Given the description of an element on the screen output the (x, y) to click on. 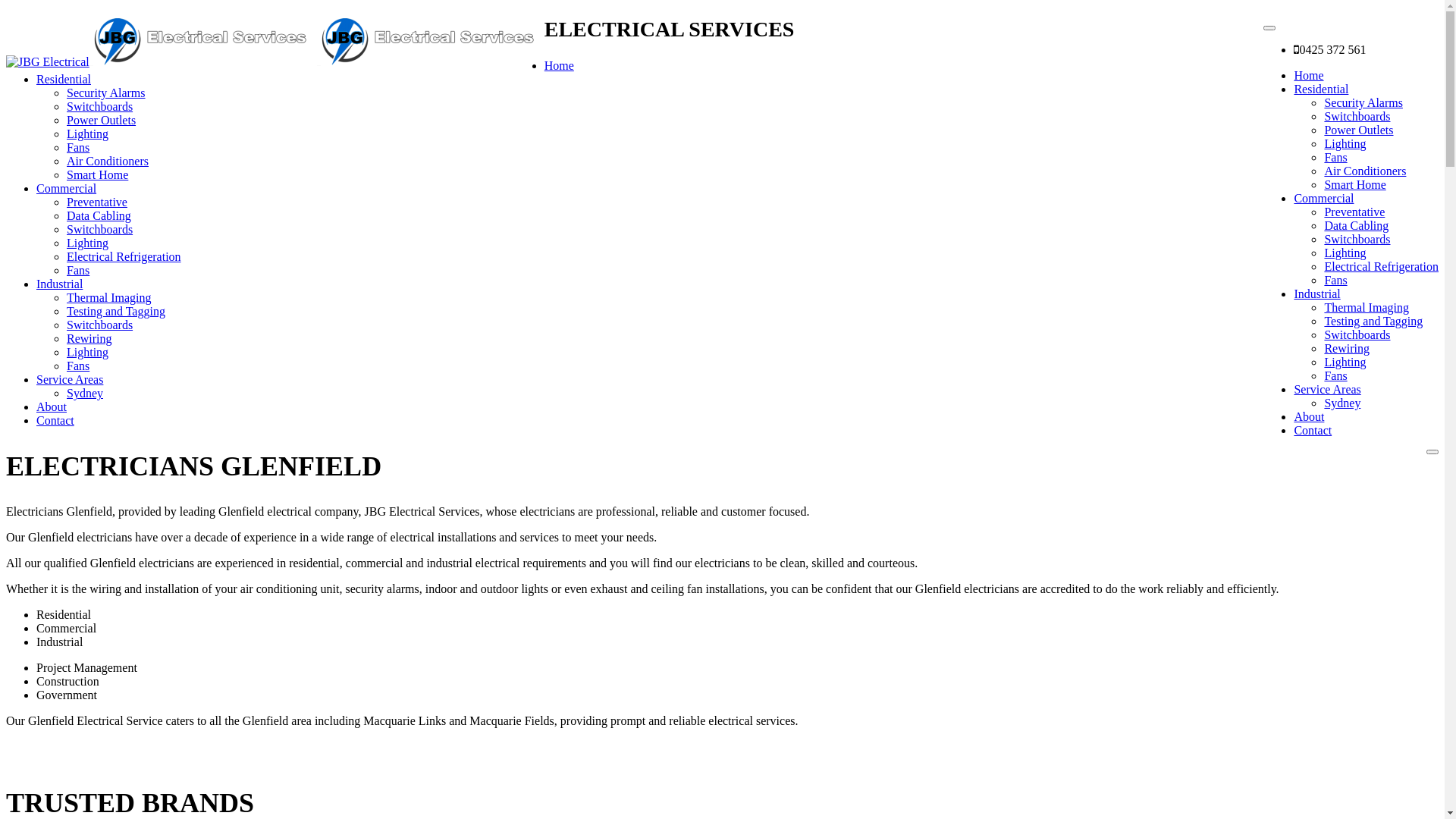
Power Outlets Element type: text (1358, 129)
Fans Element type: text (1335, 375)
Lighting Element type: text (87, 351)
Switchboards Element type: text (1357, 115)
Air Conditioners Element type: text (107, 160)
Security Alarms Element type: text (105, 92)
Power Outlets Element type: text (100, 119)
Smart Home Element type: text (97, 174)
Contact Element type: text (1312, 429)
Lighting Element type: text (87, 133)
Preventative Element type: text (1354, 211)
Commercial Element type: text (66, 188)
About Element type: text (51, 406)
Commercial Element type: text (1323, 197)
Security Alarms Element type: text (1363, 102)
Air Conditioners Element type: text (1364, 170)
Switchboards Element type: text (1357, 334)
Sydney Element type: text (1342, 402)
Testing and Tagging Element type: text (115, 310)
Service Areas Element type: text (69, 379)
Industrial Element type: text (1316, 293)
Fans Element type: text (77, 269)
Switchboards Element type: text (99, 228)
Thermal Imaging Element type: text (1366, 307)
Data Cabling Element type: text (1356, 225)
Fans Element type: text (77, 365)
Electrical Refrigeration Element type: text (123, 256)
Home Element type: text (1308, 75)
Lighting Element type: text (1344, 143)
Smart Home Element type: text (1354, 184)
Electrical Refrigeration Element type: text (1381, 266)
Switchboards Element type: text (99, 324)
About Element type: text (1308, 416)
Lighting Element type: text (1344, 361)
Industrial Element type: text (59, 283)
Fans Element type: text (77, 147)
Fans Element type: text (1335, 156)
Rewiring Element type: text (89, 338)
Data Cabling Element type: text (98, 215)
Home Element type: text (559, 65)
Sydney Element type: text (84, 392)
Lighting Element type: text (1344, 252)
Switchboards Element type: text (1357, 238)
Rewiring Element type: text (1346, 348)
Switchboards Element type: text (99, 106)
Service Areas Element type: text (1326, 388)
Fans Element type: text (1335, 279)
Residential Element type: text (1320, 88)
Contact Element type: text (55, 420)
Testing and Tagging Element type: text (1373, 320)
Residential Element type: text (63, 78)
Lighting Element type: text (87, 242)
Thermal Imaging Element type: text (108, 297)
Preventative Element type: text (96, 201)
